Given the description of an element on the screen output the (x, y) to click on. 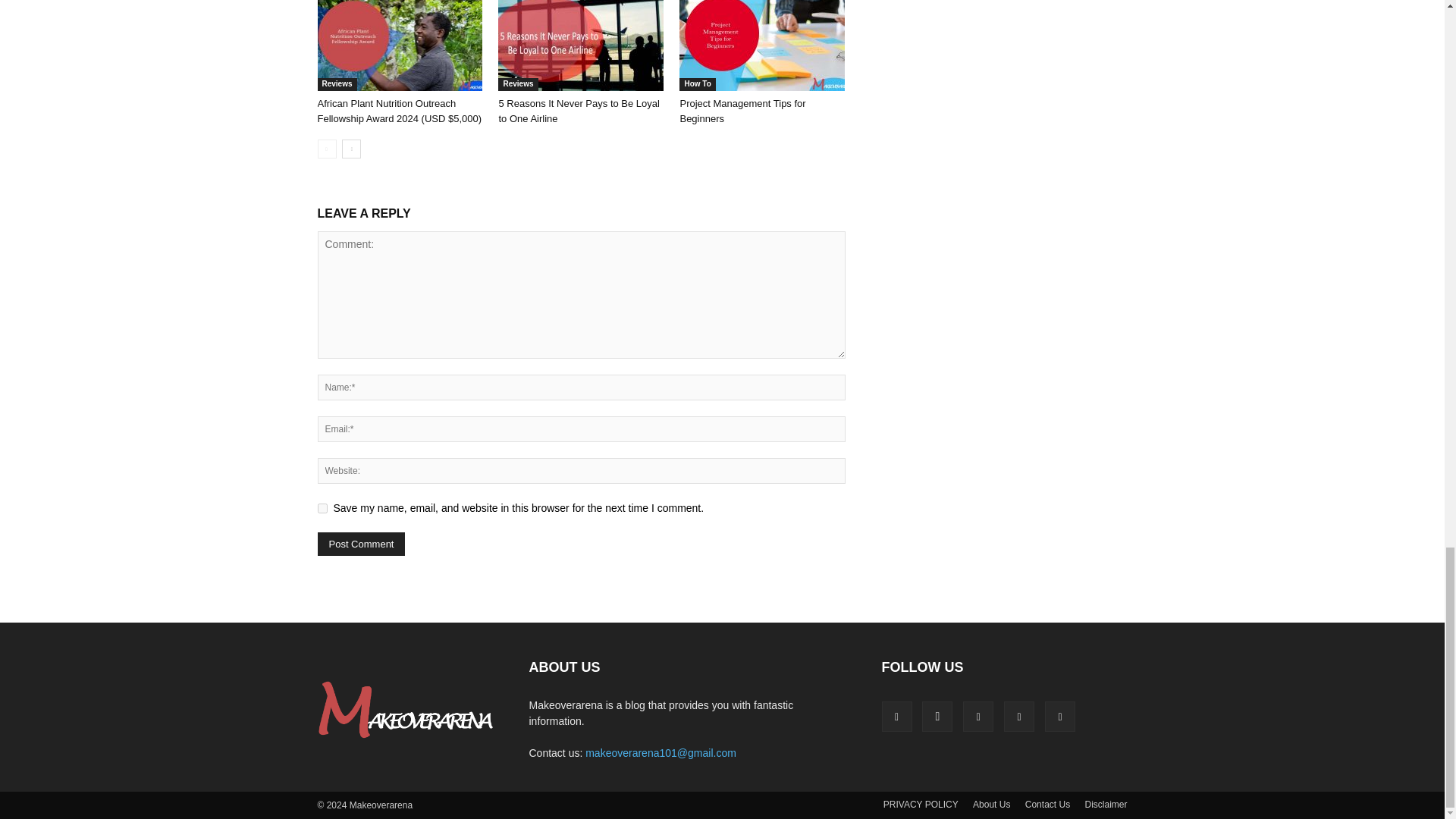
Post Comment (360, 544)
yes (321, 508)
